Given the description of an element on the screen output the (x, y) to click on. 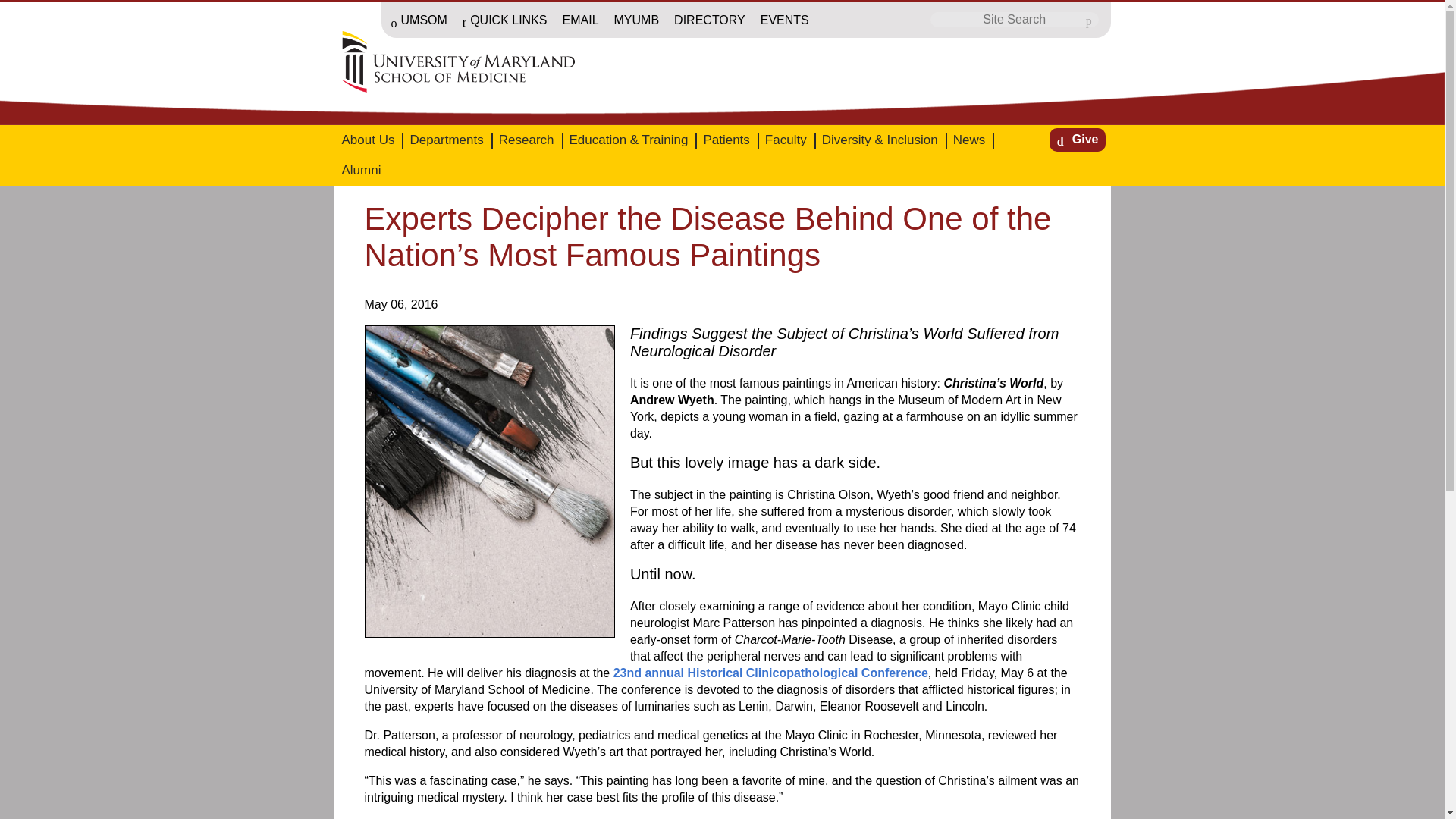
UMSOM (419, 21)
QUICK LINKS (504, 20)
